Given the description of an element on the screen output the (x, y) to click on. 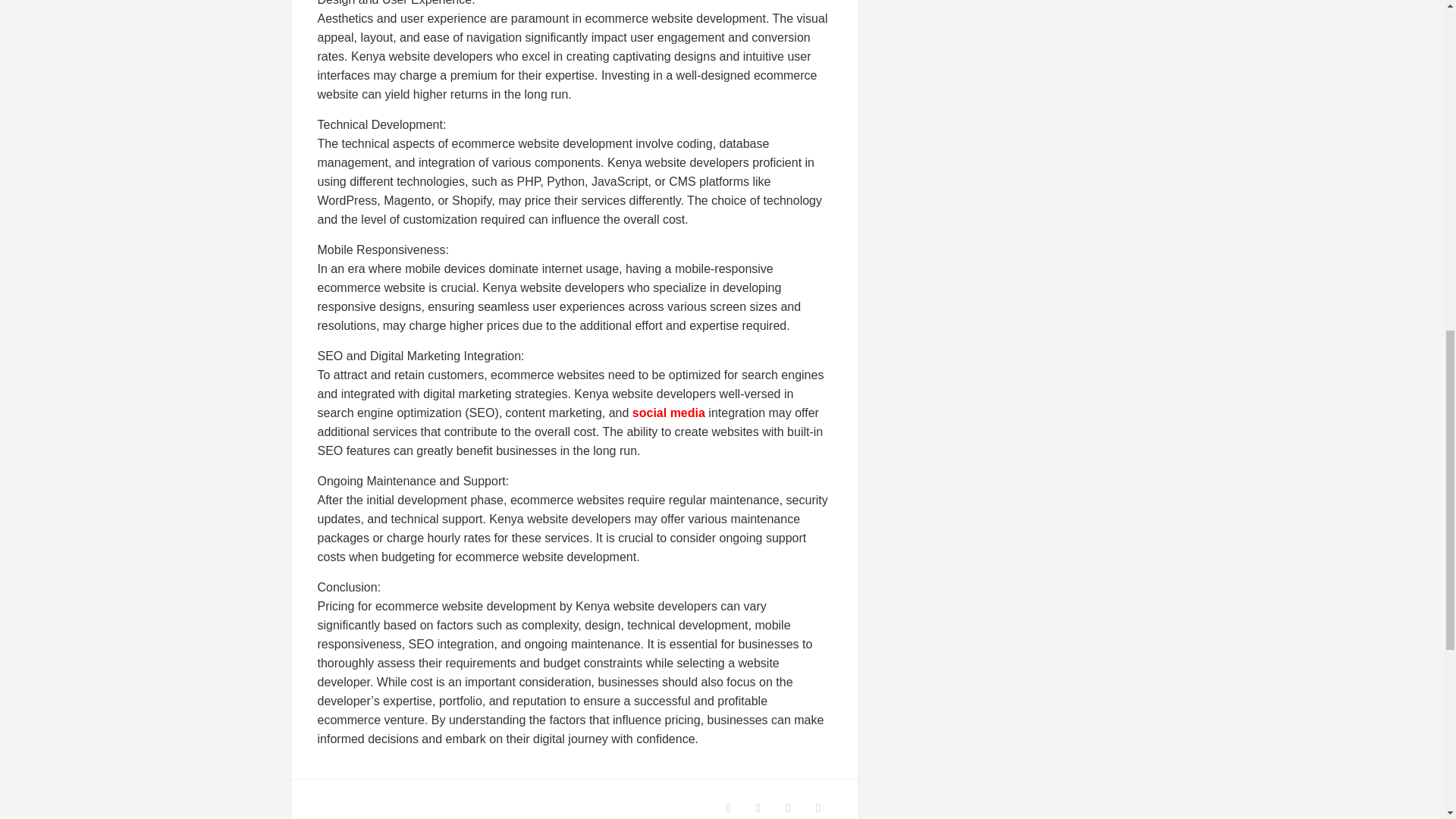
social media (666, 412)
